Given the description of an element on the screen output the (x, y) to click on. 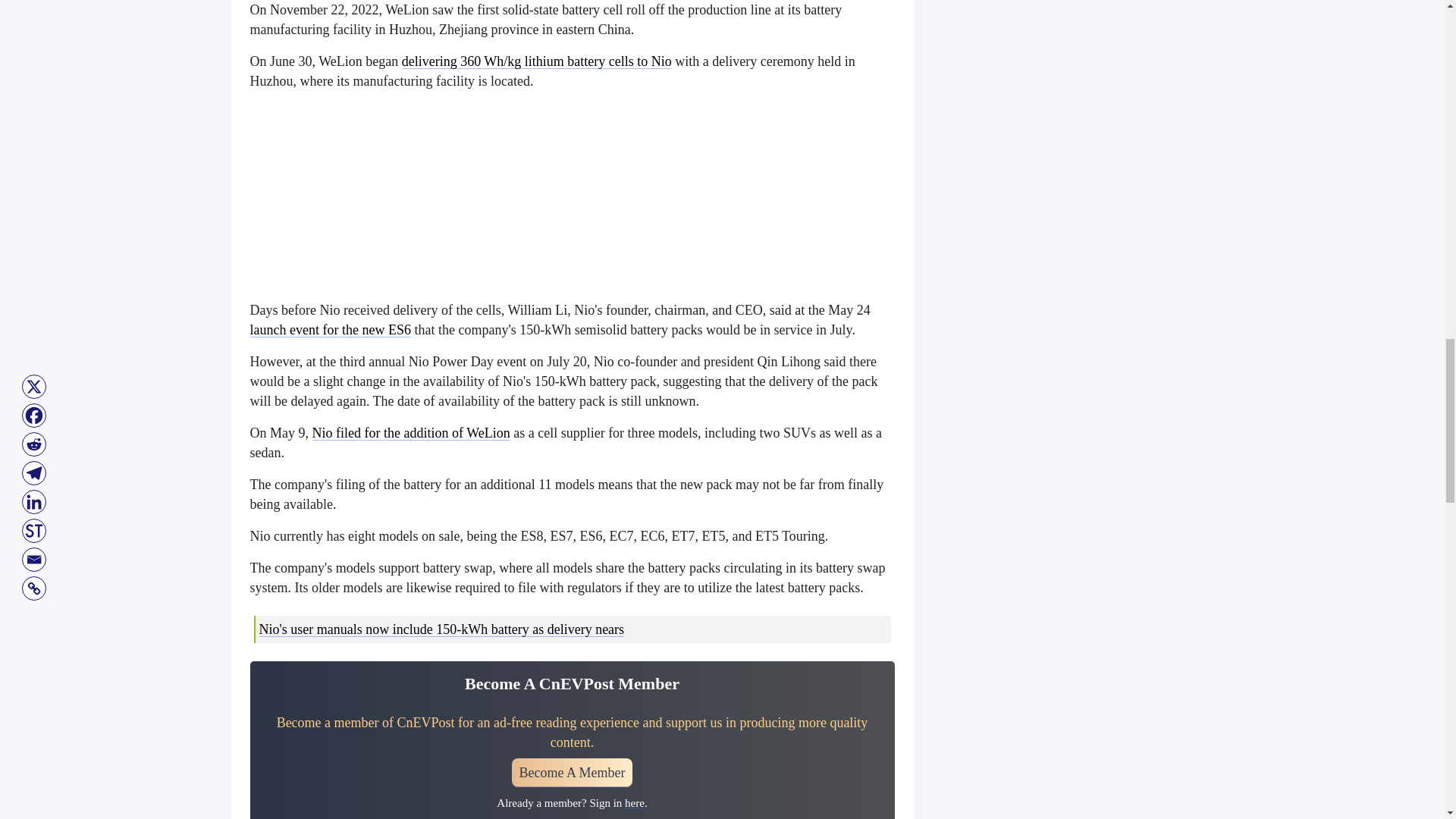
Nio filed for the addition of WeLion (412, 432)
here (634, 802)
Become A Member (572, 772)
launch event for the new ES6 (330, 329)
